Given the description of an element on the screen output the (x, y) to click on. 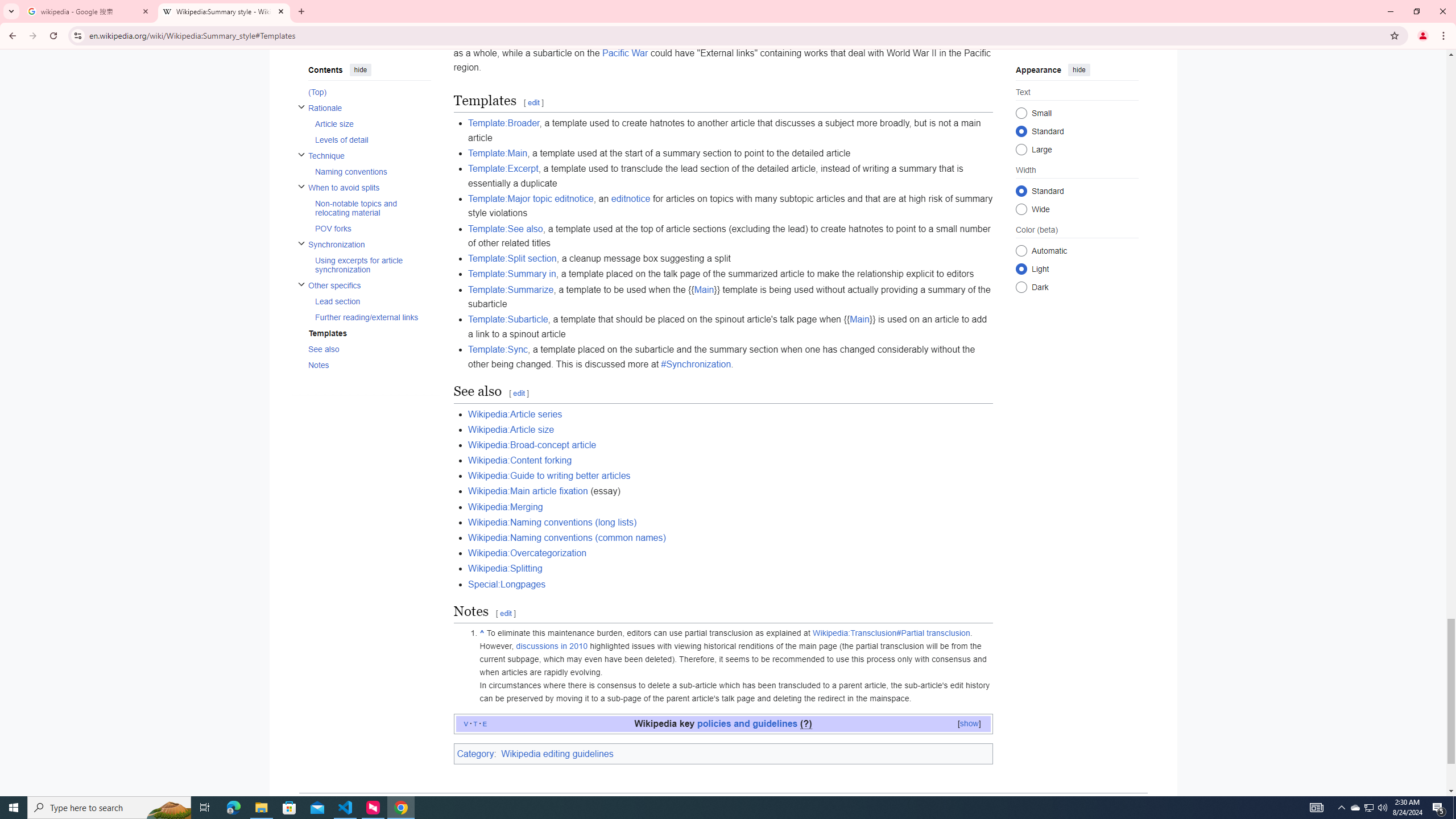
Toggle Rationale subsection (300, 106)
Using excerpts for article synchronization (372, 264)
Notes (368, 364)
Template:Main (497, 153)
Wikipedia editing guidelines (556, 753)
#Synchronization (695, 363)
AutomationID: toc-Other_specifics (365, 300)
AutomationID: toc-mw-content-text (365, 91)
AutomationID: toc-Article_size (368, 123)
Dark (1020, 286)
Main (859, 319)
Technique (368, 155)
Template:Subarticle (507, 319)
